Given the description of an element on the screen output the (x, y) to click on. 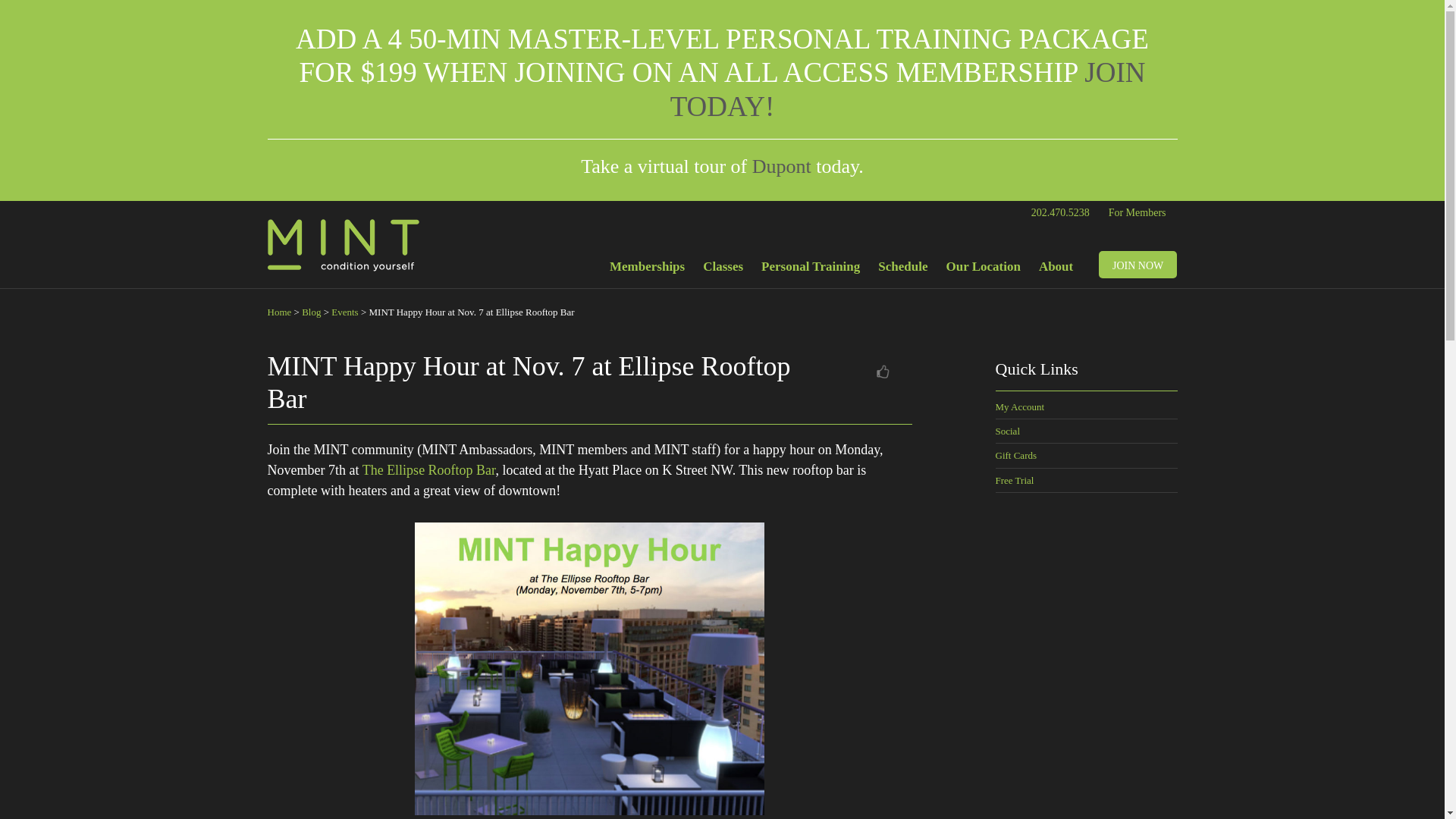
Schedule (902, 270)
Memberships (647, 270)
Classes (723, 270)
About (1055, 270)
Blog (310, 311)
Events (344, 311)
JOIN NOW (1137, 264)
Personal Training (810, 270)
Our Location (982, 270)
Dupont (781, 166)
The Ellipse Rooftop Bar (429, 469)
JOIN TODAY! (907, 88)
Home (278, 311)
For Members (1137, 212)
